Given the description of an element on the screen output the (x, y) to click on. 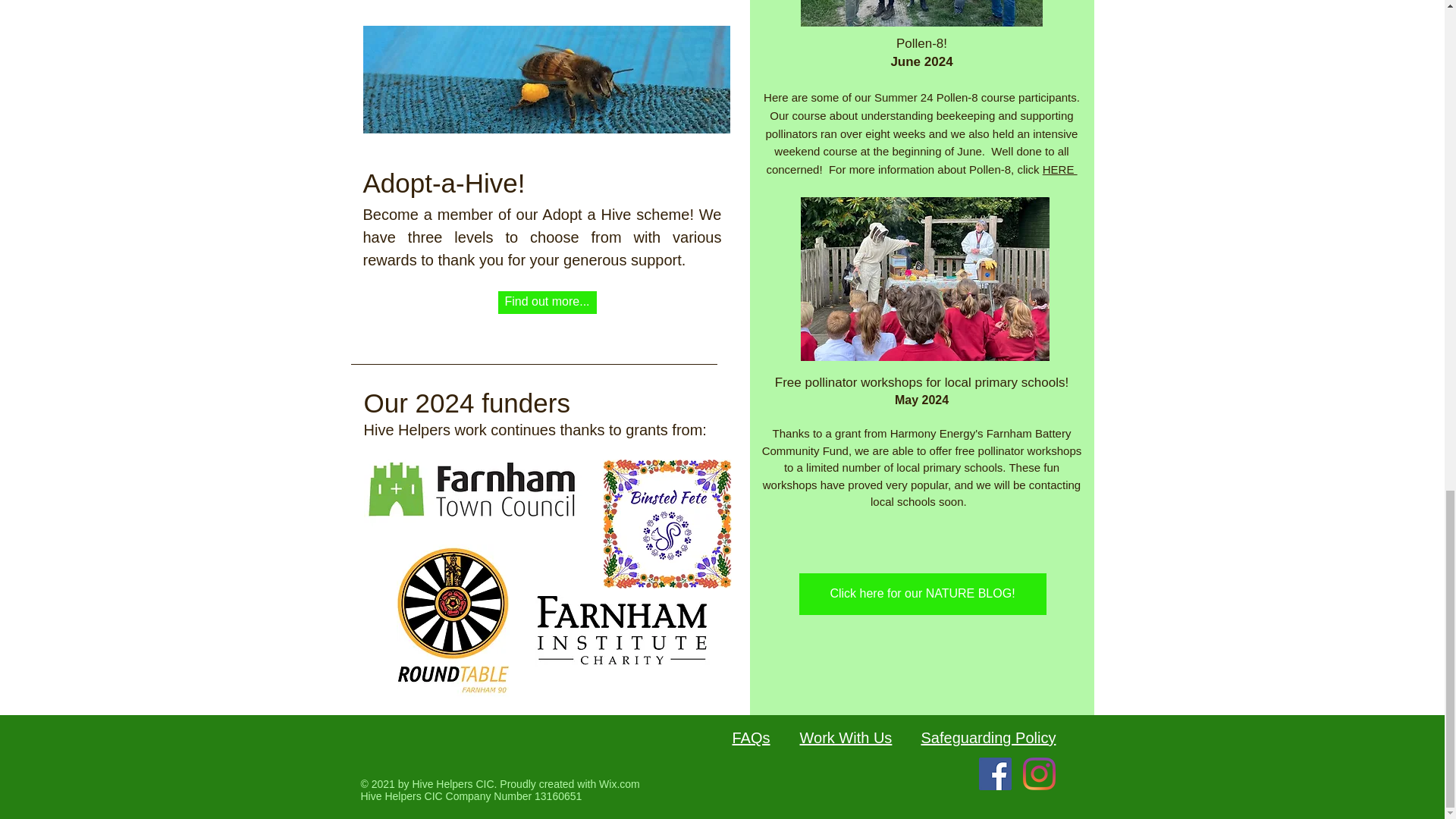
FAQs (751, 737)
HERE  (1059, 169)
Click here for our NATURE BLOG! (922, 594)
Safeguarding Policy (987, 737)
Work With Us (845, 737)
Find out more... (546, 302)
Wix.com (619, 784)
